Given the description of an element on the screen output the (x, y) to click on. 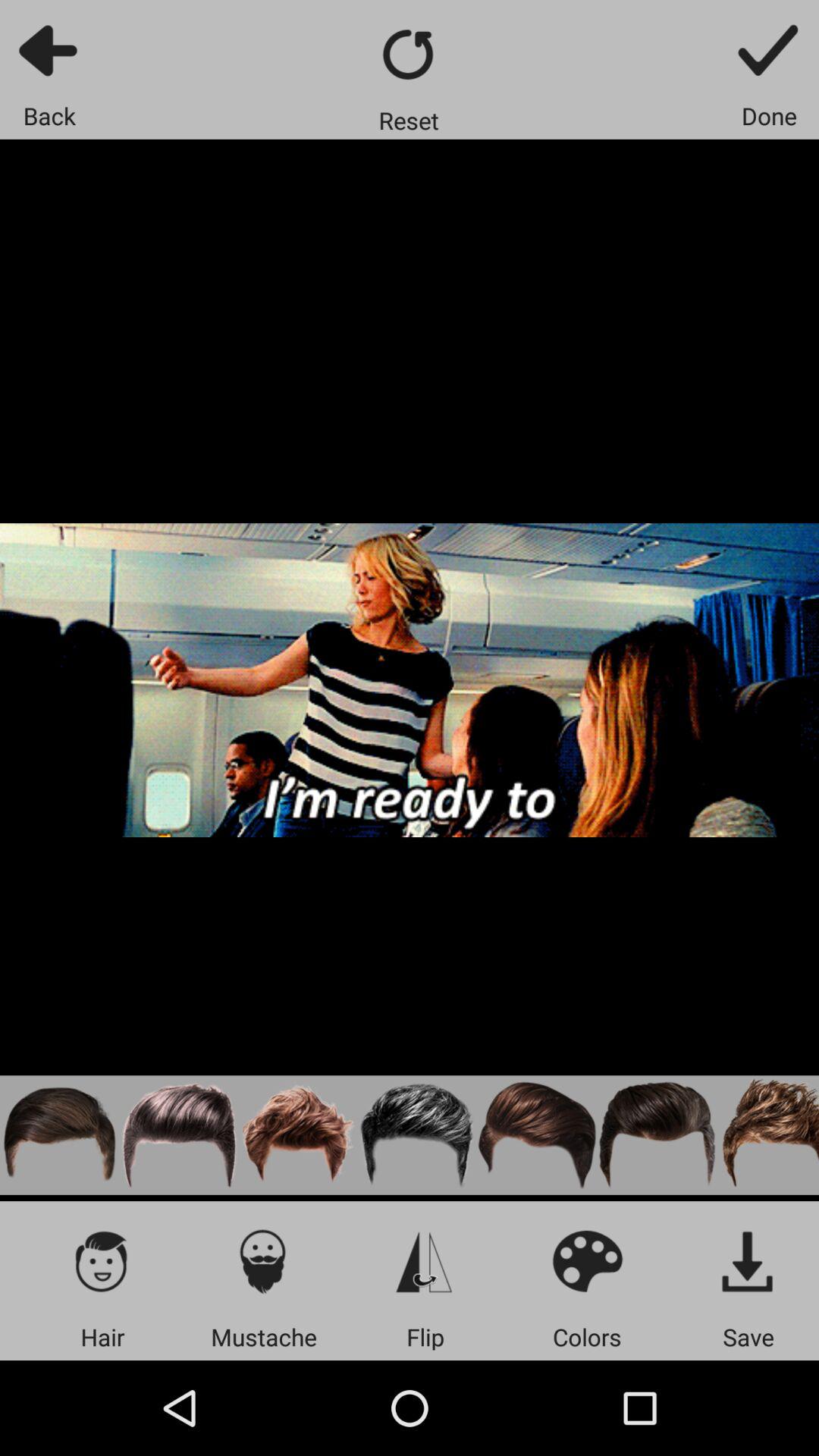
image hair setting (298, 1134)
